Given the description of an element on the screen output the (x, y) to click on. 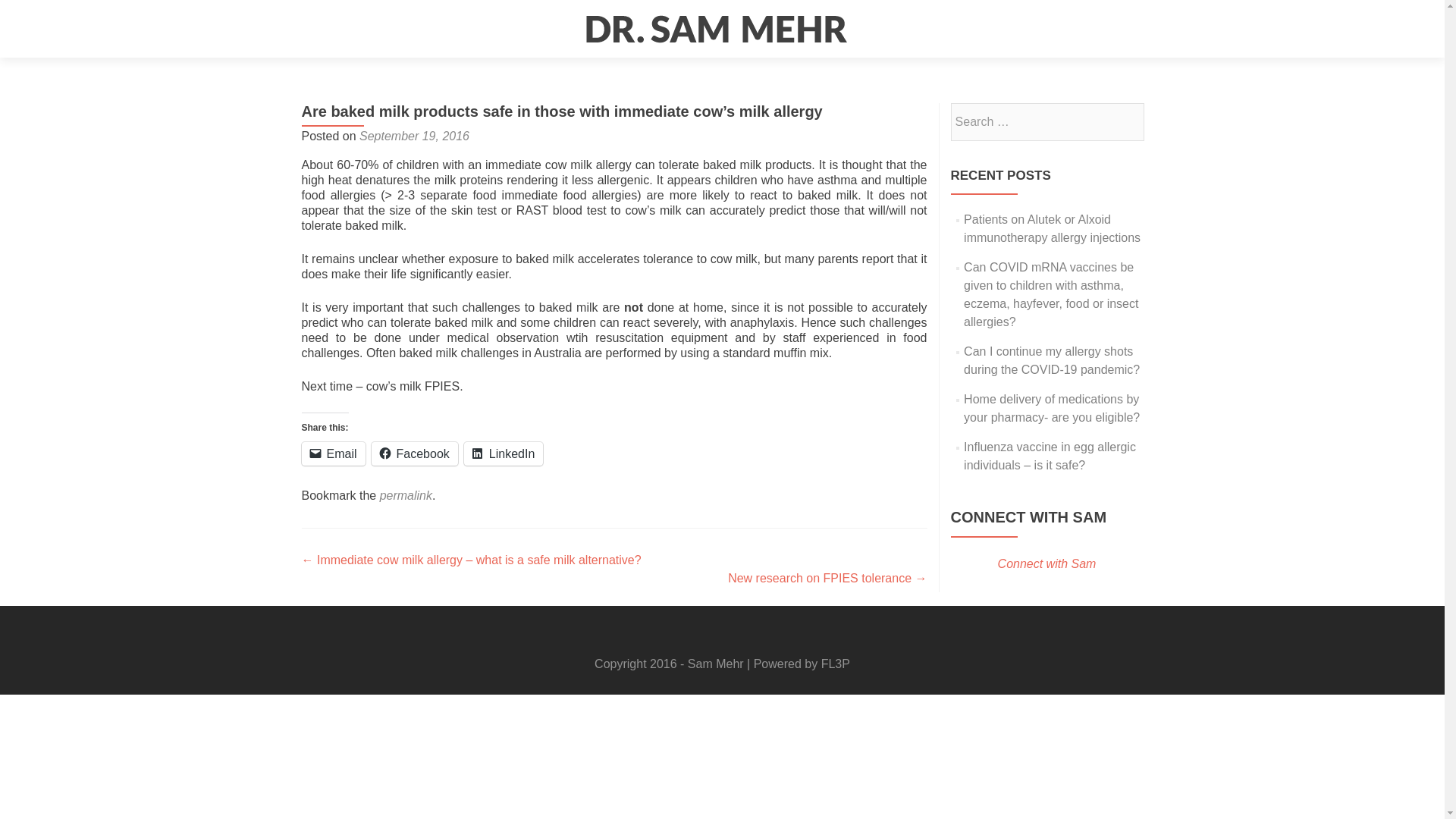
September 19, 2016 (413, 135)
Search (1125, 120)
LinkedIn (503, 454)
CONNECT WITH SAM (1028, 516)
FL3P (835, 663)
Email (333, 454)
permalink (406, 495)
Click to share on Facebook (414, 454)
